Given the description of an element on the screen output the (x, y) to click on. 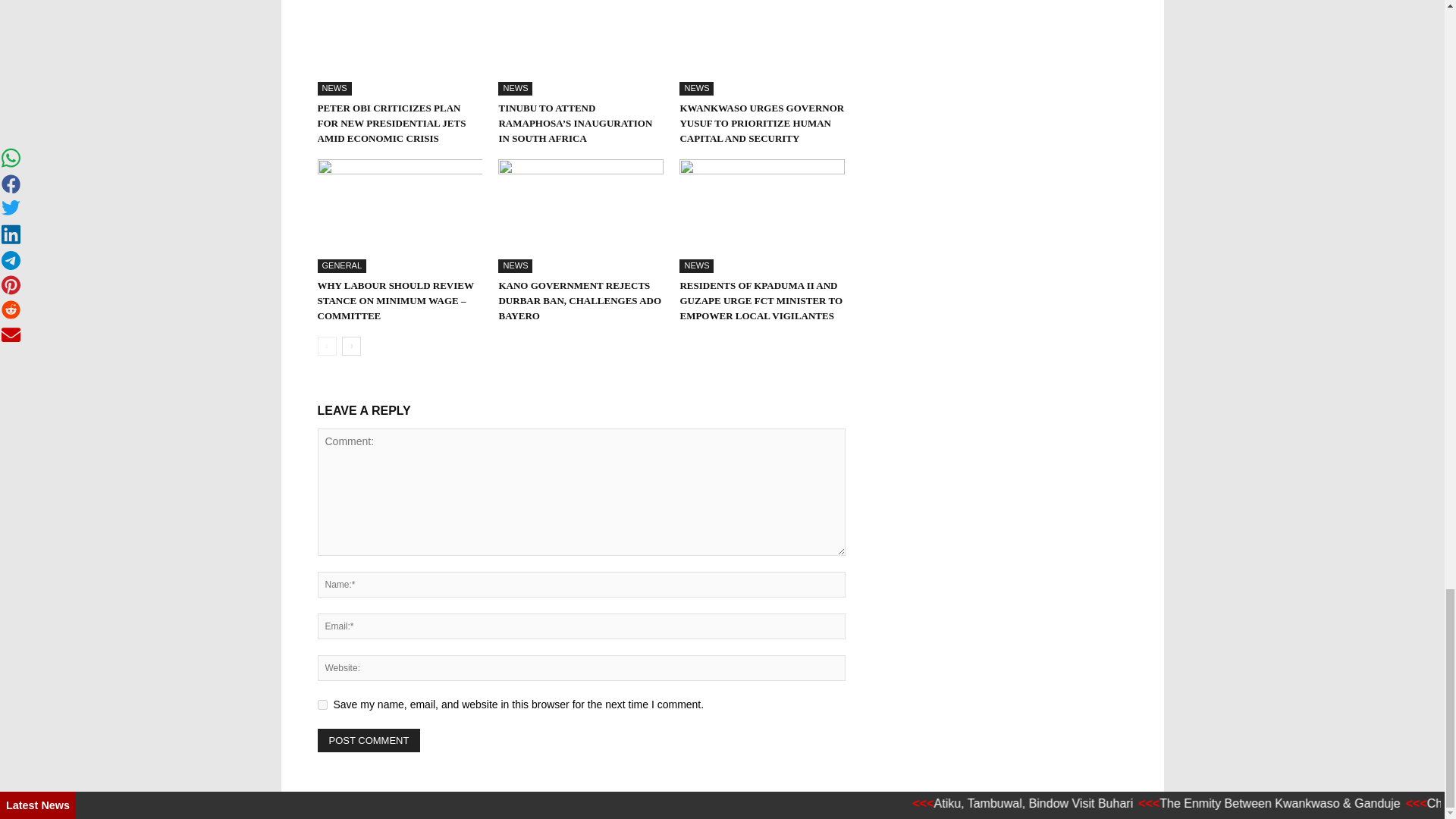
Post Comment (368, 740)
yes (321, 705)
